Given the description of an element on the screen output the (x, y) to click on. 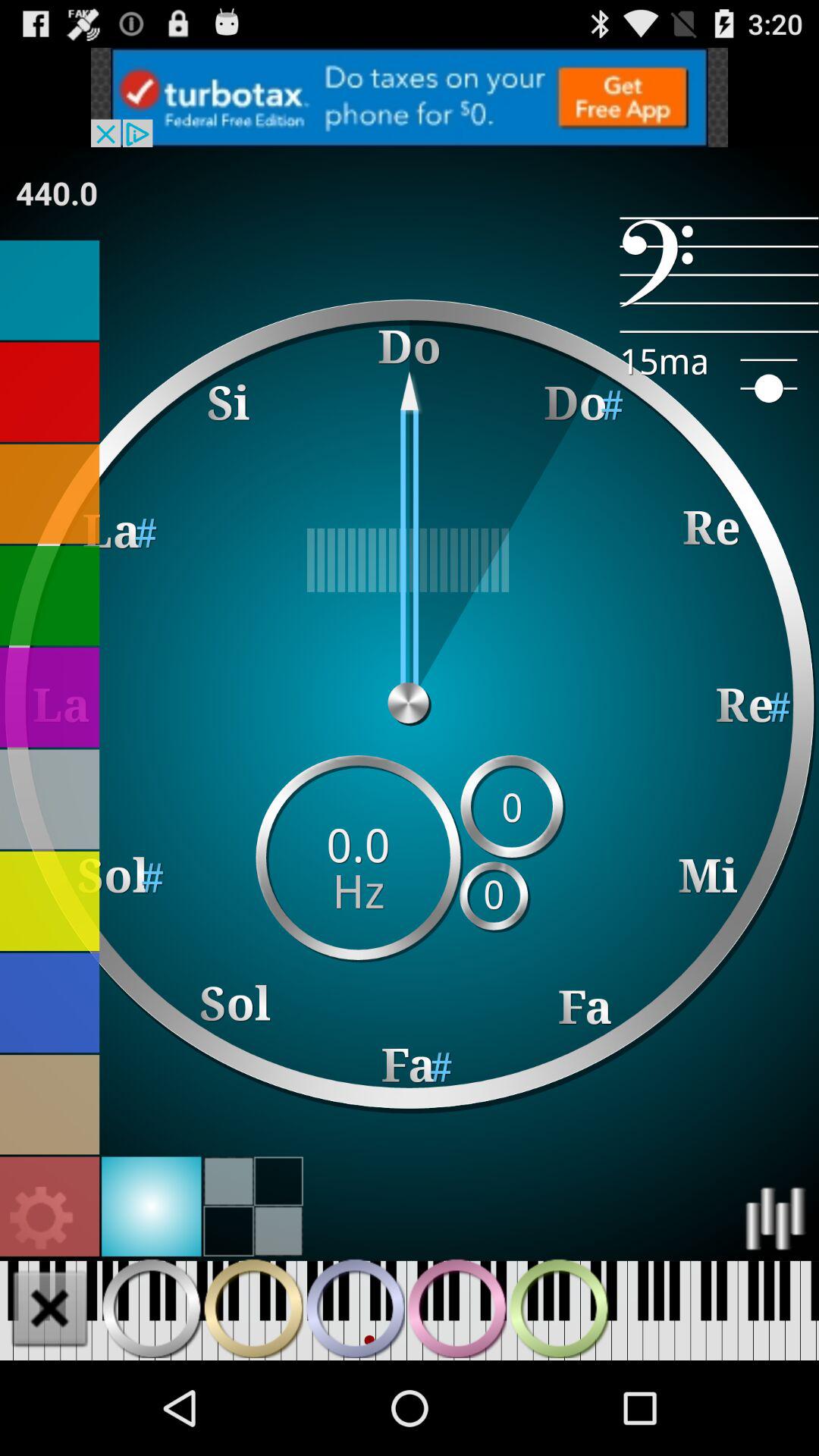
go to previous (151, 1308)
